Given the description of an element on the screen output the (x, y) to click on. 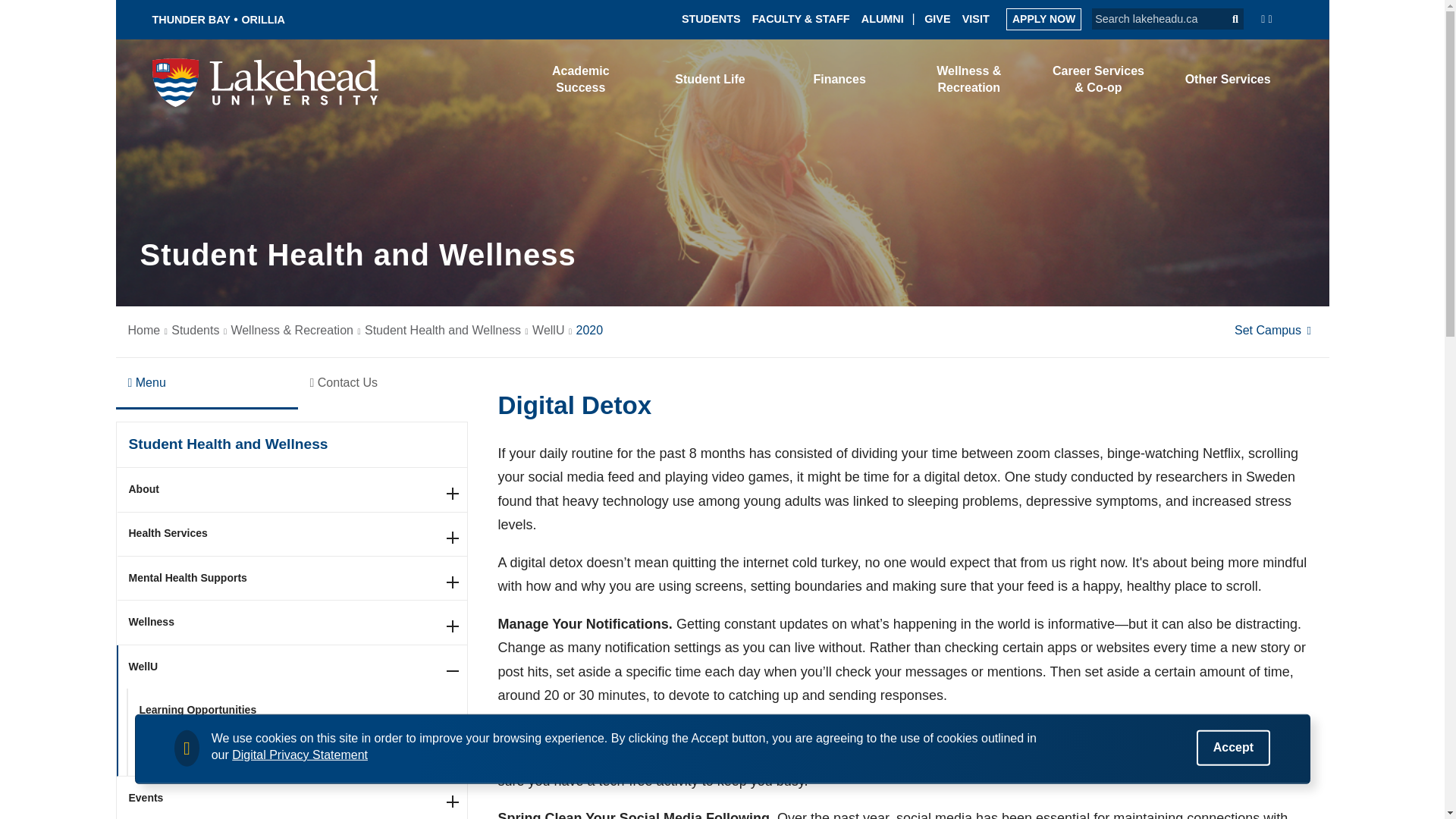
Student Life (709, 79)
Digital Privacy Statement (299, 754)
THUNDER BAY (190, 19)
APPLY NOW (1043, 19)
Support Lakehead University, make a Donation (937, 18)
Log in to mySuccess (1042, 82)
Academic Success (581, 79)
Search (1227, 18)
Accept (1232, 746)
VISIT (976, 18)
STUDENTS (711, 18)
Change Campus Preference (1275, 329)
Log in to myCourseLink (1140, 80)
GIVE (937, 18)
ORILLIA (263, 19)
